Given the description of an element on the screen output the (x, y) to click on. 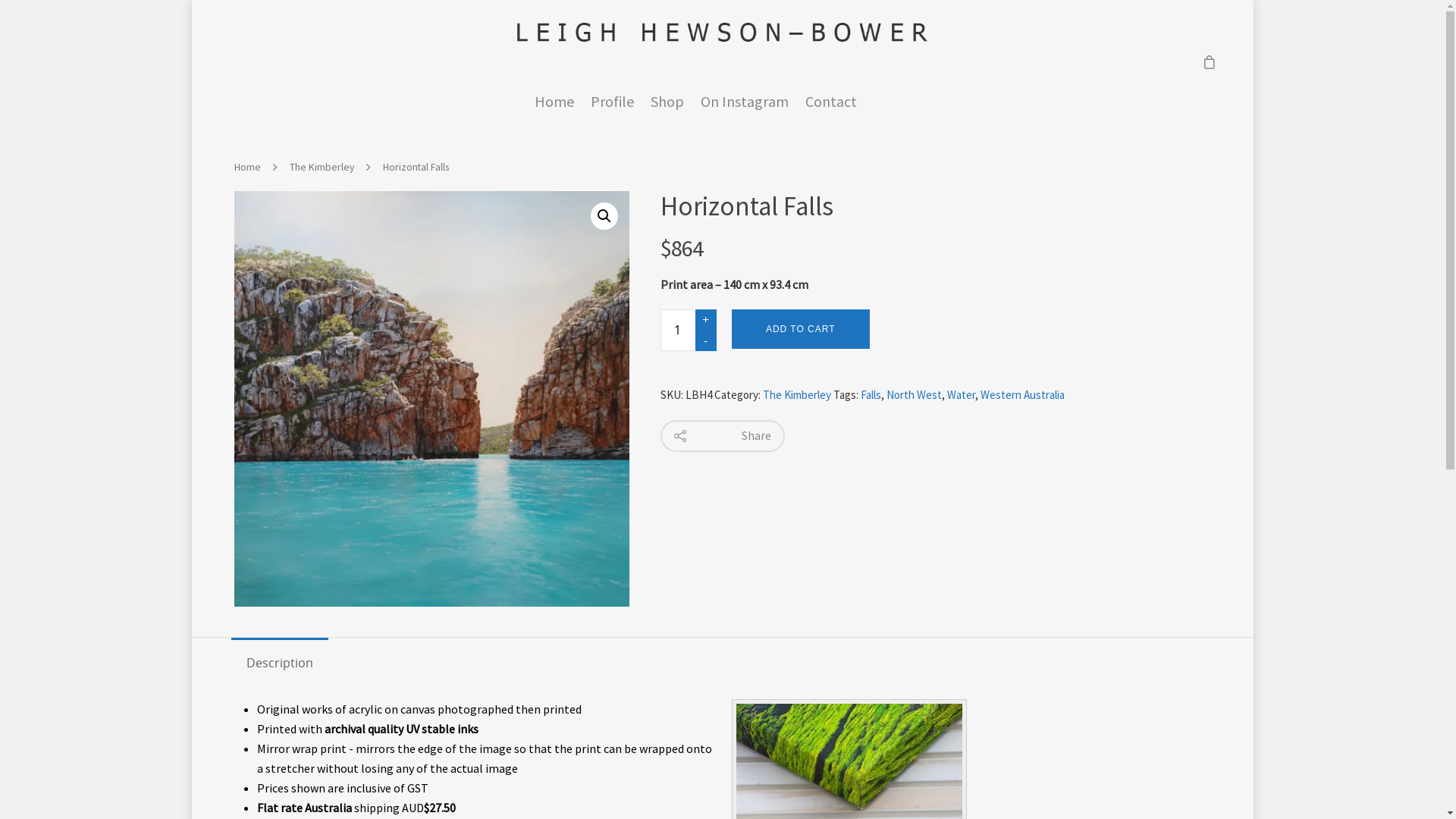
The Kimberley Element type: text (321, 166)
The Kimberley Element type: text (796, 394)
Falls Element type: text (870, 394)
Shop Element type: text (667, 109)
Profile Element type: text (612, 109)
Home Element type: text (246, 166)
Description Element type: text (279, 662)
On Instagram Element type: text (744, 109)
Share Element type: text (722, 435)
Qty Element type: hover (676, 330)
Western Australia Element type: text (1022, 394)
North West Element type: text (913, 394)
ADD TO CART Element type: text (800, 328)
Contact Element type: text (830, 109)
Water Element type: text (961, 394)
Home Element type: text (554, 109)
